Given the description of an element on the screen output the (x, y) to click on. 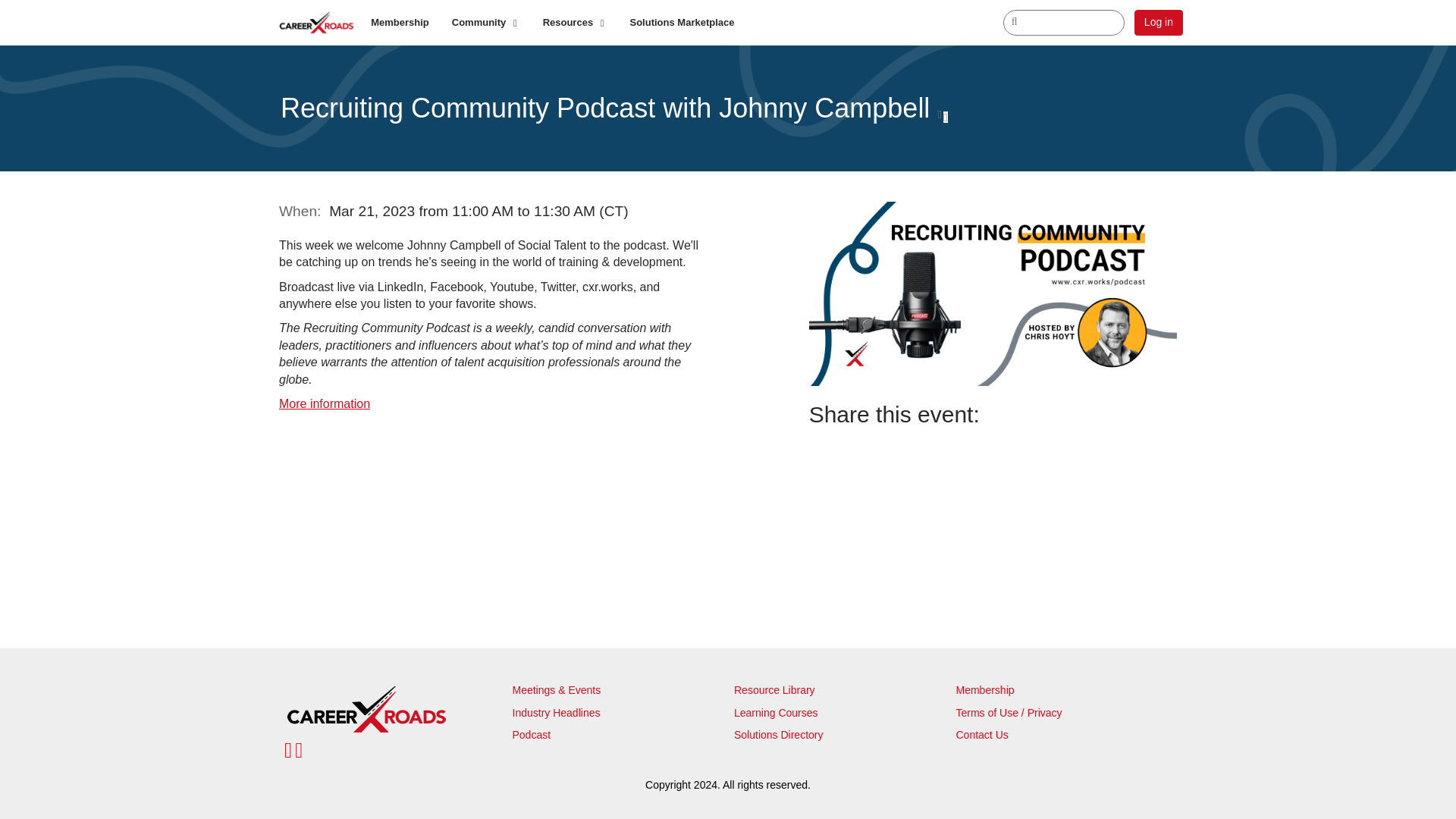
Membership (984, 689)
More information (324, 403)
Community (486, 22)
Solutions Marketplace (681, 22)
More information (324, 403)
Resources (574, 22)
Learning Courses (775, 712)
Resource Library (774, 689)
Podcast (531, 734)
search (1063, 22)
